Given the description of an element on the screen output the (x, y) to click on. 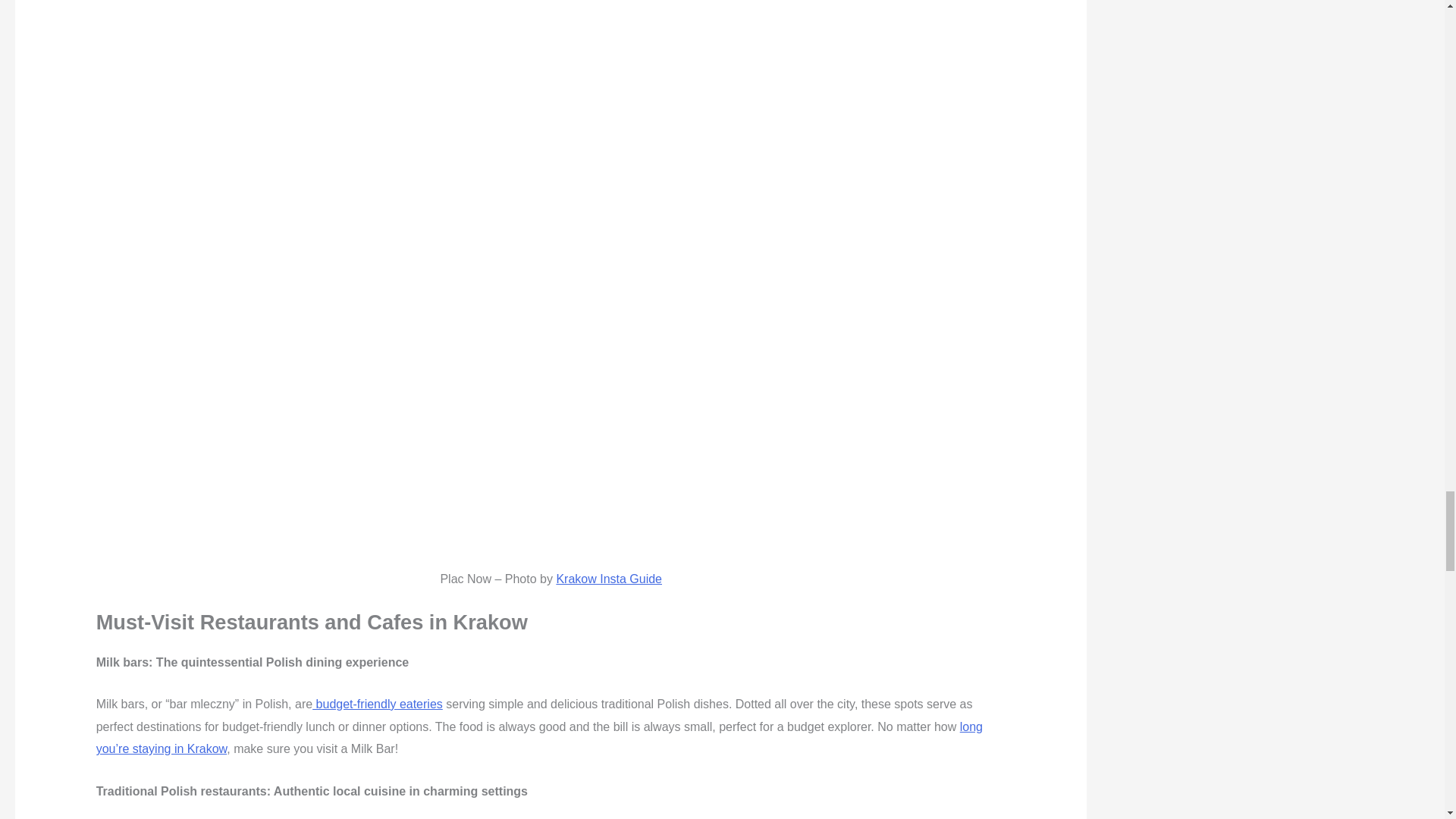
Krakow Insta Guide (609, 578)
budget-friendly eateries (377, 703)
